Given the description of an element on the screen output the (x, y) to click on. 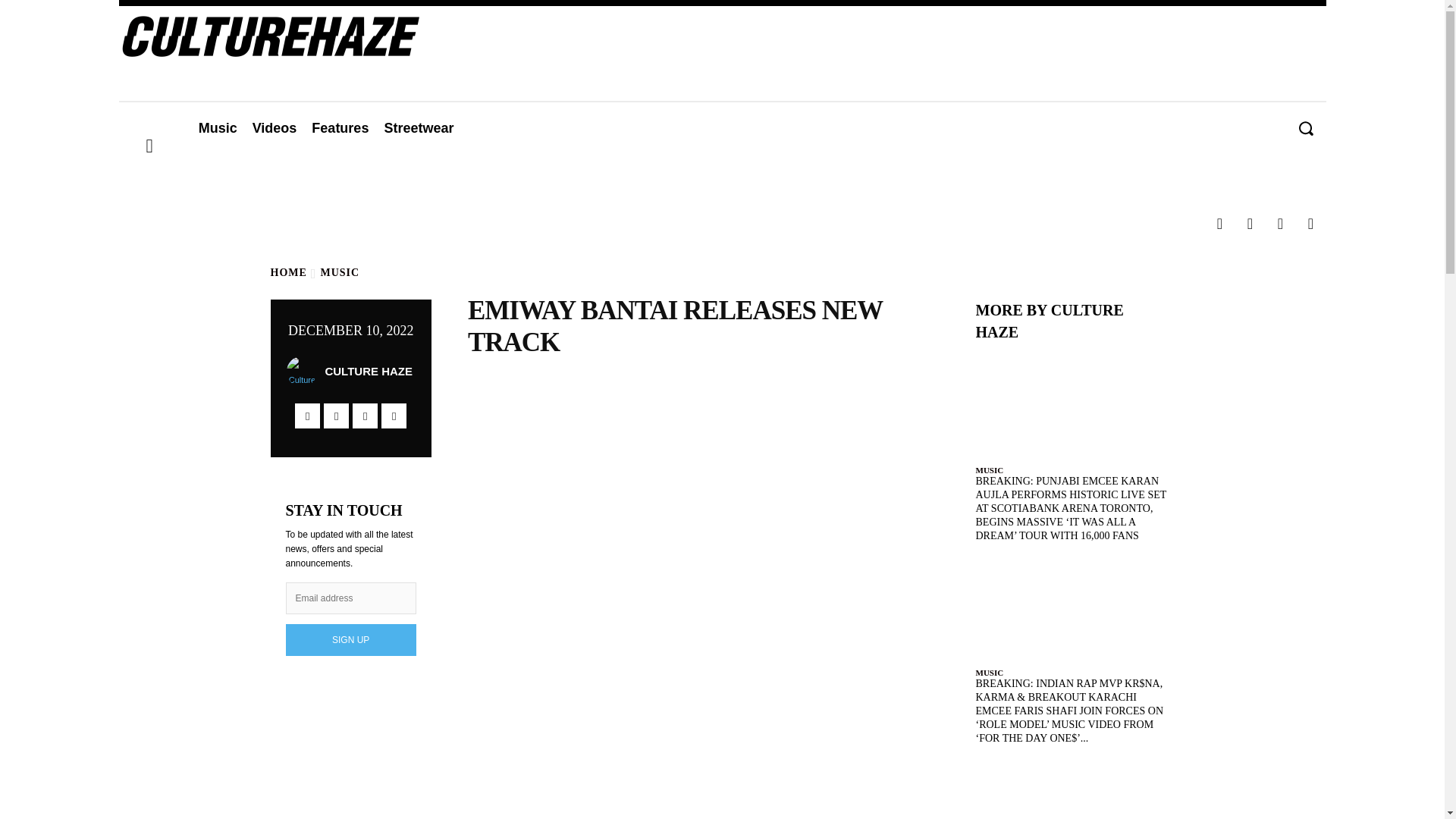
Music (217, 128)
SIGN UP (349, 640)
Features (339, 128)
Facebook (1219, 223)
MUSIC (339, 272)
Twitter (1280, 223)
CULTURE HAZE (368, 371)
Videos (274, 128)
HOME (287, 272)
Youtube (1309, 223)
